Given the description of an element on the screen output the (x, y) to click on. 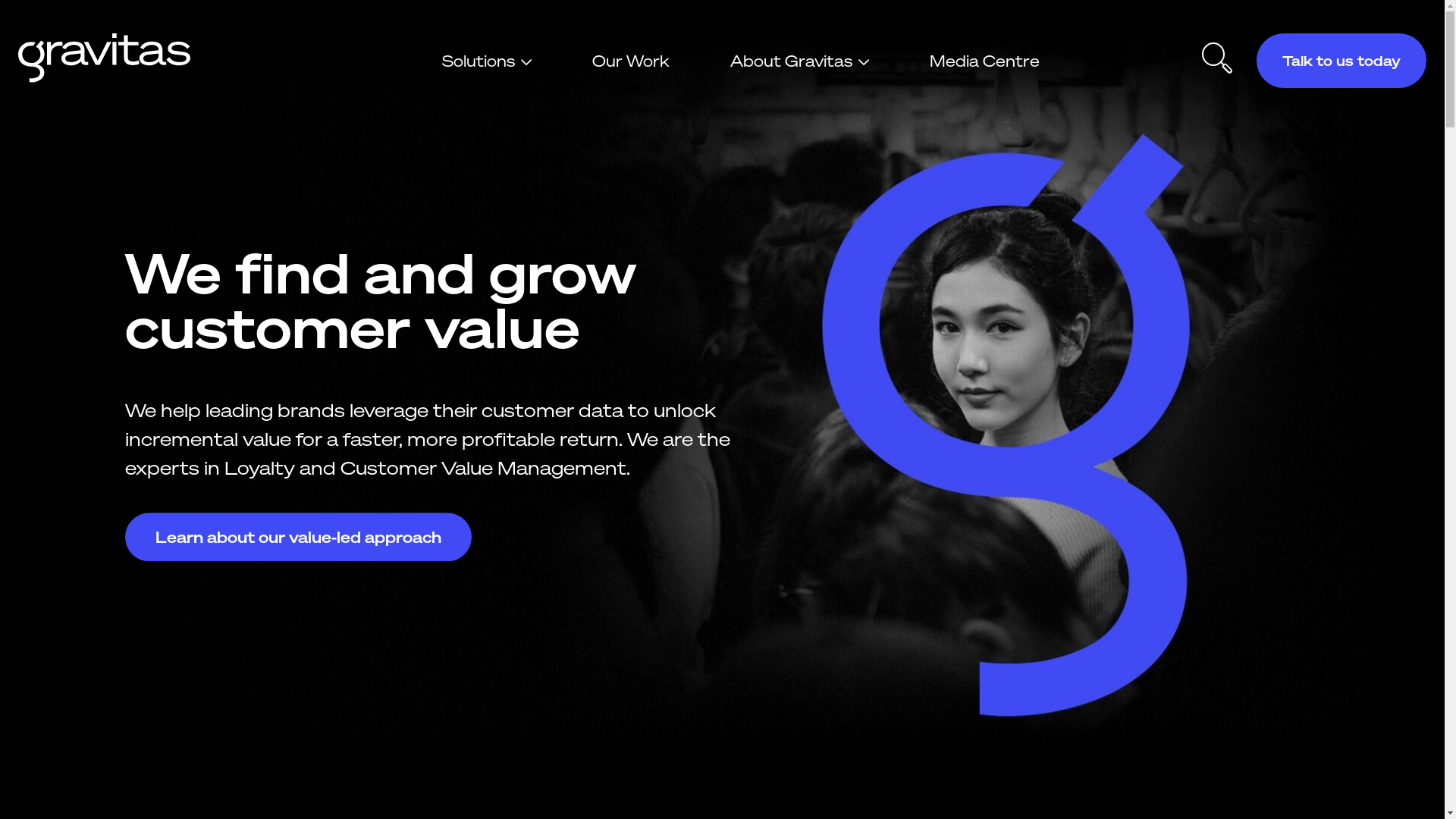
Talk to us today Element type: text (1341, 60)
About Gravitas Element type: text (798, 60)
Solutions Element type: text (485, 60)
Our Work Element type: text (629, 60)
Media Centre Element type: text (984, 60)
Learn about our value-led approach Element type: text (297, 536)
